Given the description of an element on the screen output the (x, y) to click on. 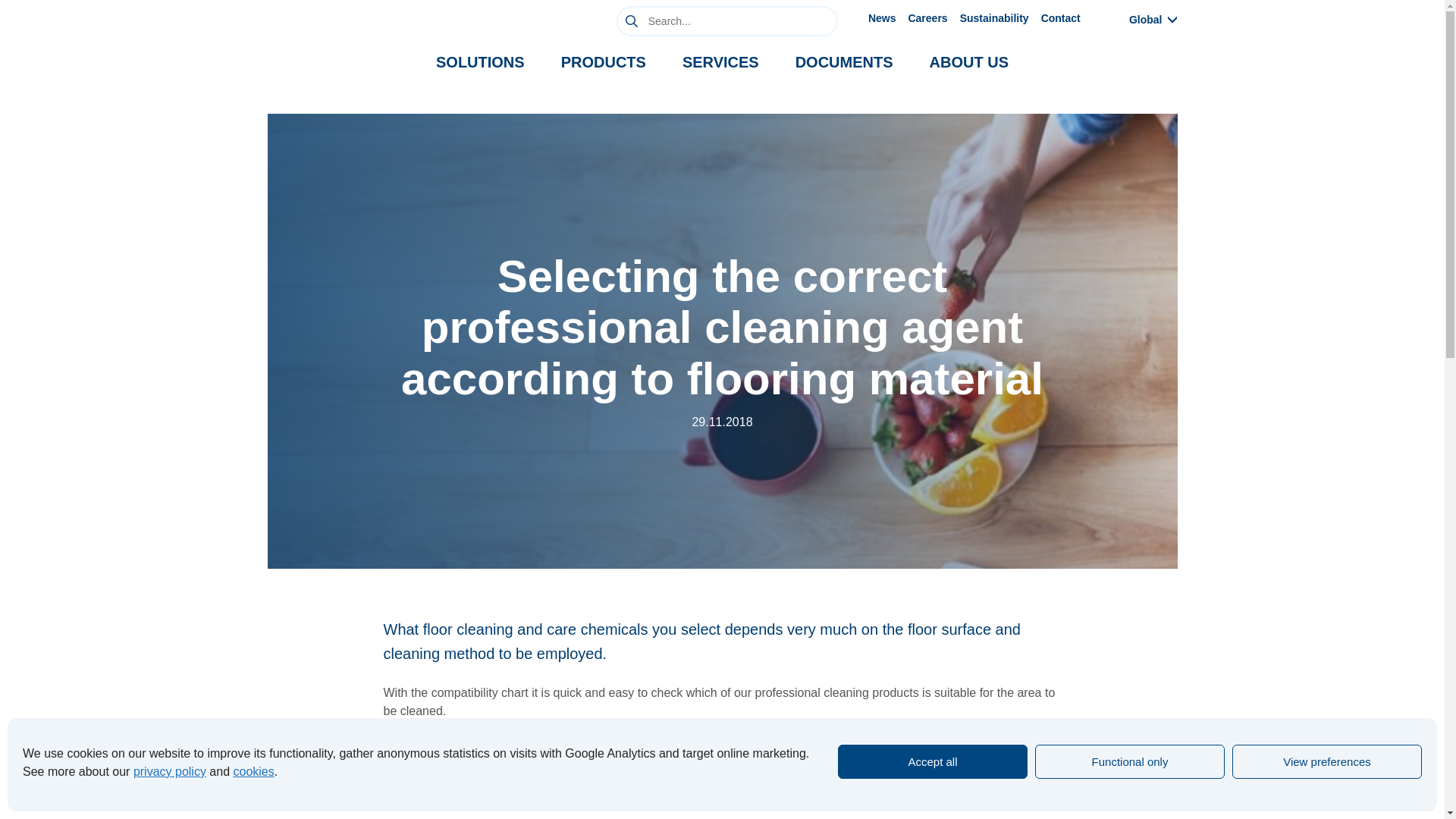
privacy policy (169, 771)
View preferences (1326, 761)
Functional only (1129, 761)
cookies (253, 771)
Accept all (932, 761)
Search for: (726, 20)
